Given the description of an element on the screen output the (x, y) to click on. 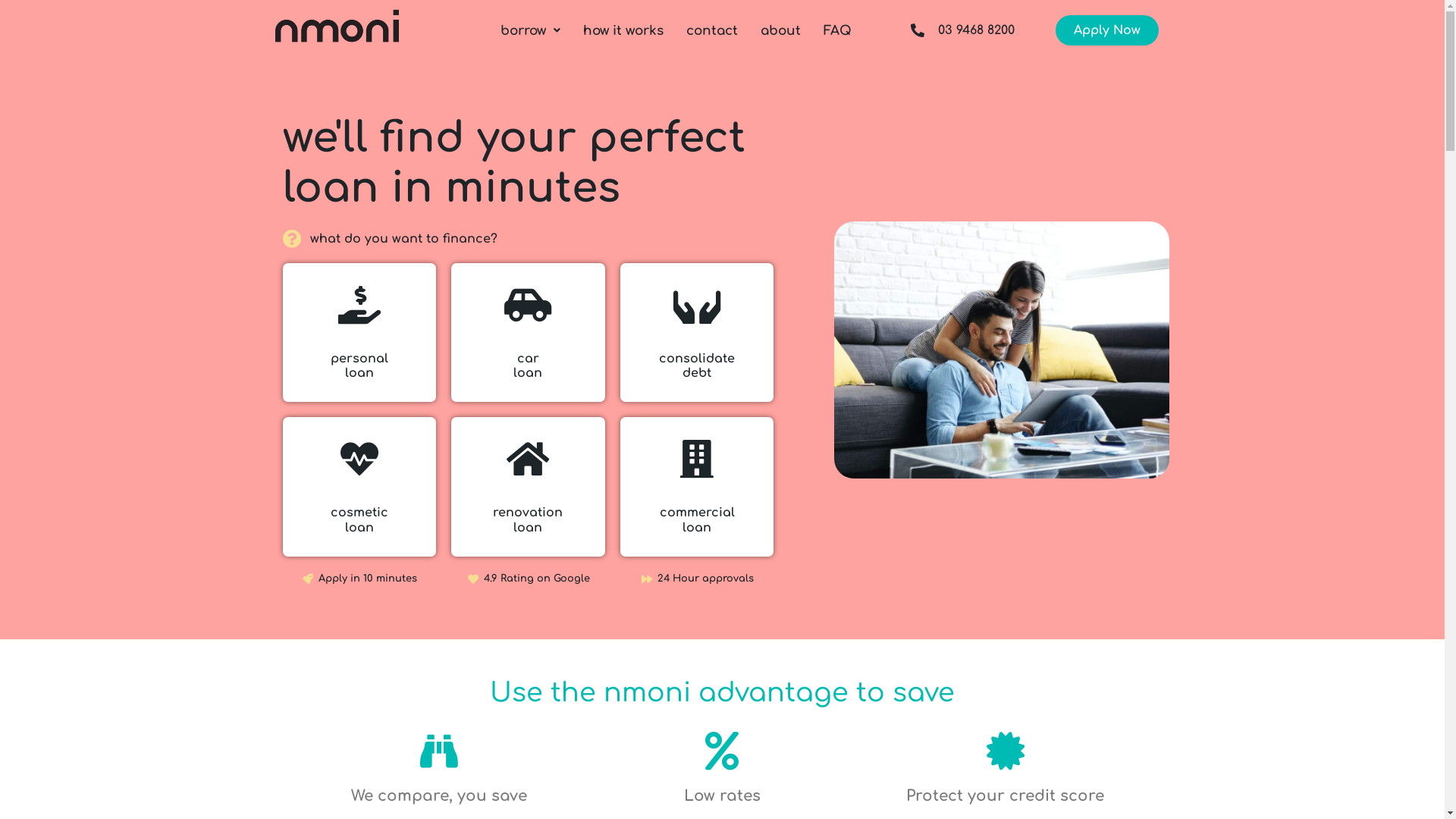
Apply Now Element type: text (1106, 30)
about Element type: text (780, 29)
03 9468 8200 Element type: text (949, 30)
FAQ Element type: text (837, 29)
contact Element type: text (711, 29)
how it works Element type: text (622, 29)
borrow Element type: text (530, 29)
